Given the description of an element on the screen output the (x, y) to click on. 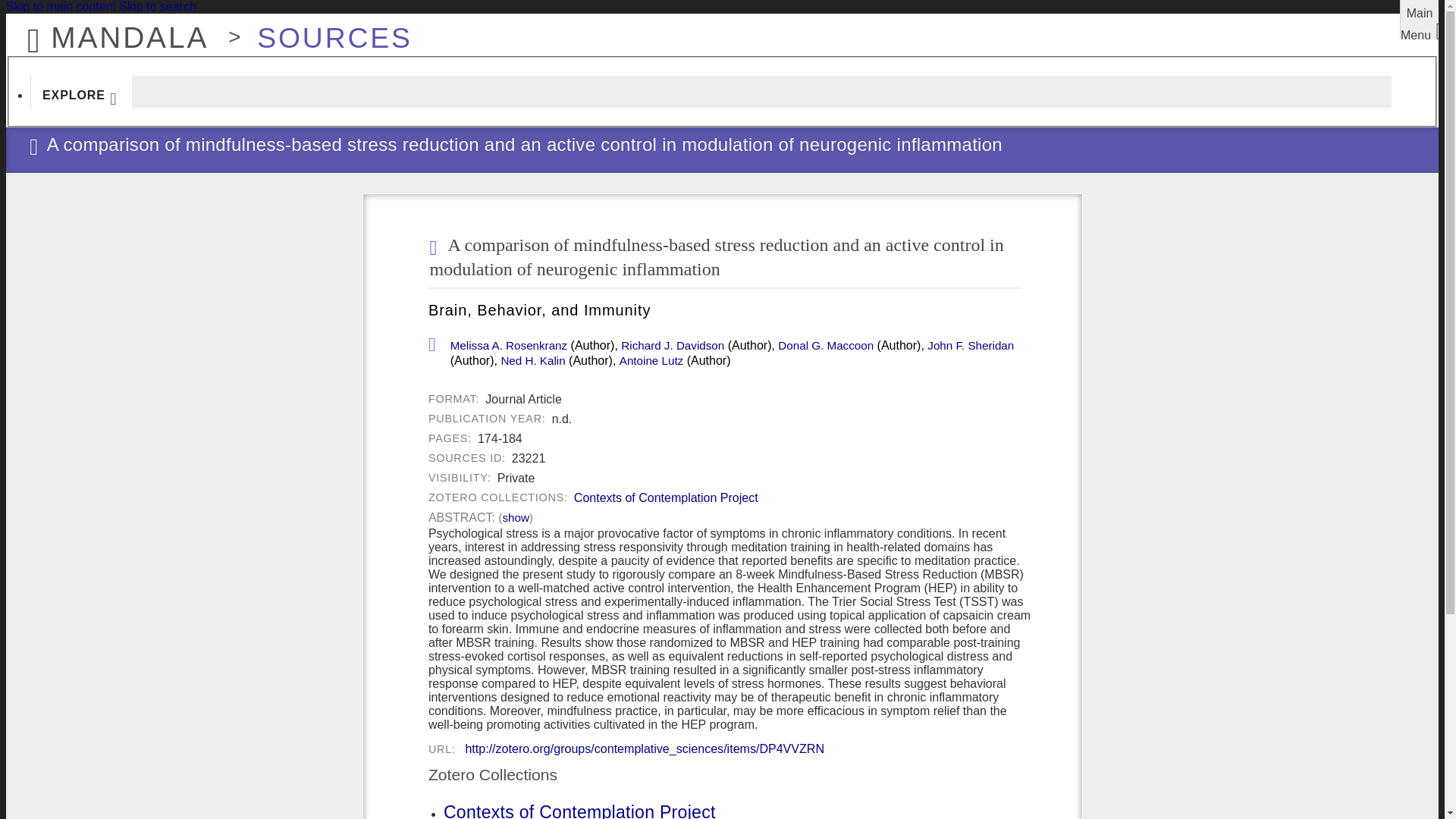
Mandala Collections - Sources Homepage (326, 29)
Skip to search (157, 6)
show (515, 517)
Antoine Lutz (651, 360)
EXPLORE (81, 91)
Contexts of Contemplation Project (580, 810)
John F. Sheridan (970, 345)
Richard J. Davidson (672, 345)
Donal G. Maccoon (825, 345)
Contexts of Contemplation Project (665, 498)
Ned H. Kalin (532, 360)
MANDALA (113, 29)
SOURCES (326, 29)
Skip to main content (60, 6)
Main Menu (1419, 19)
